Given the description of an element on the screen output the (x, y) to click on. 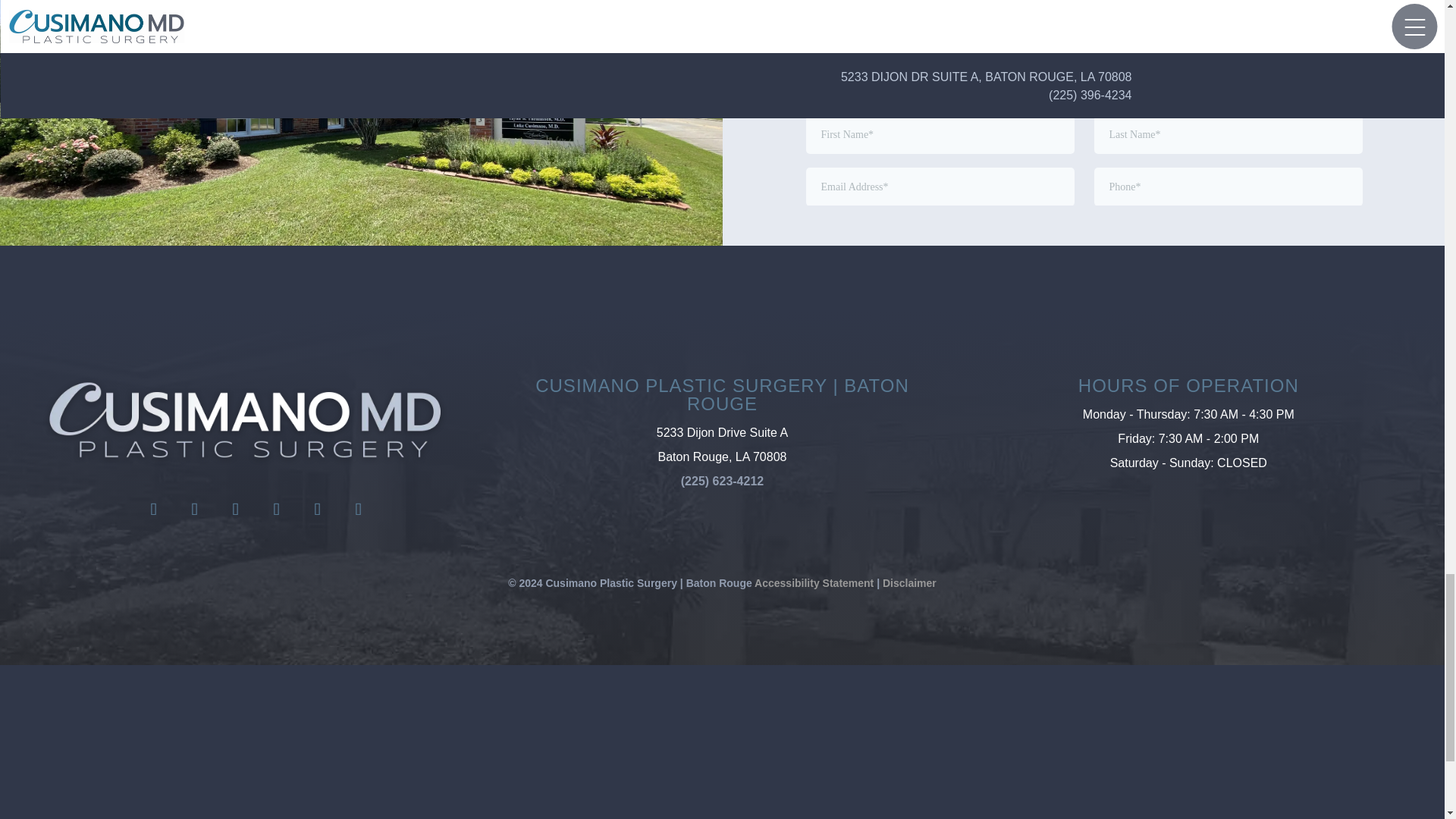
google map (635, 760)
Follow on LinkedIn (276, 509)
Follow on X (235, 509)
Follow on Yelp (357, 509)
Follow on Facebook (153, 509)
webform (1083, 148)
baton-rouge-plastic-surgery-logo-1 (244, 421)
Follow on Instagram (194, 509)
Follow on Youtube (316, 509)
